Given the description of an element on the screen output the (x, y) to click on. 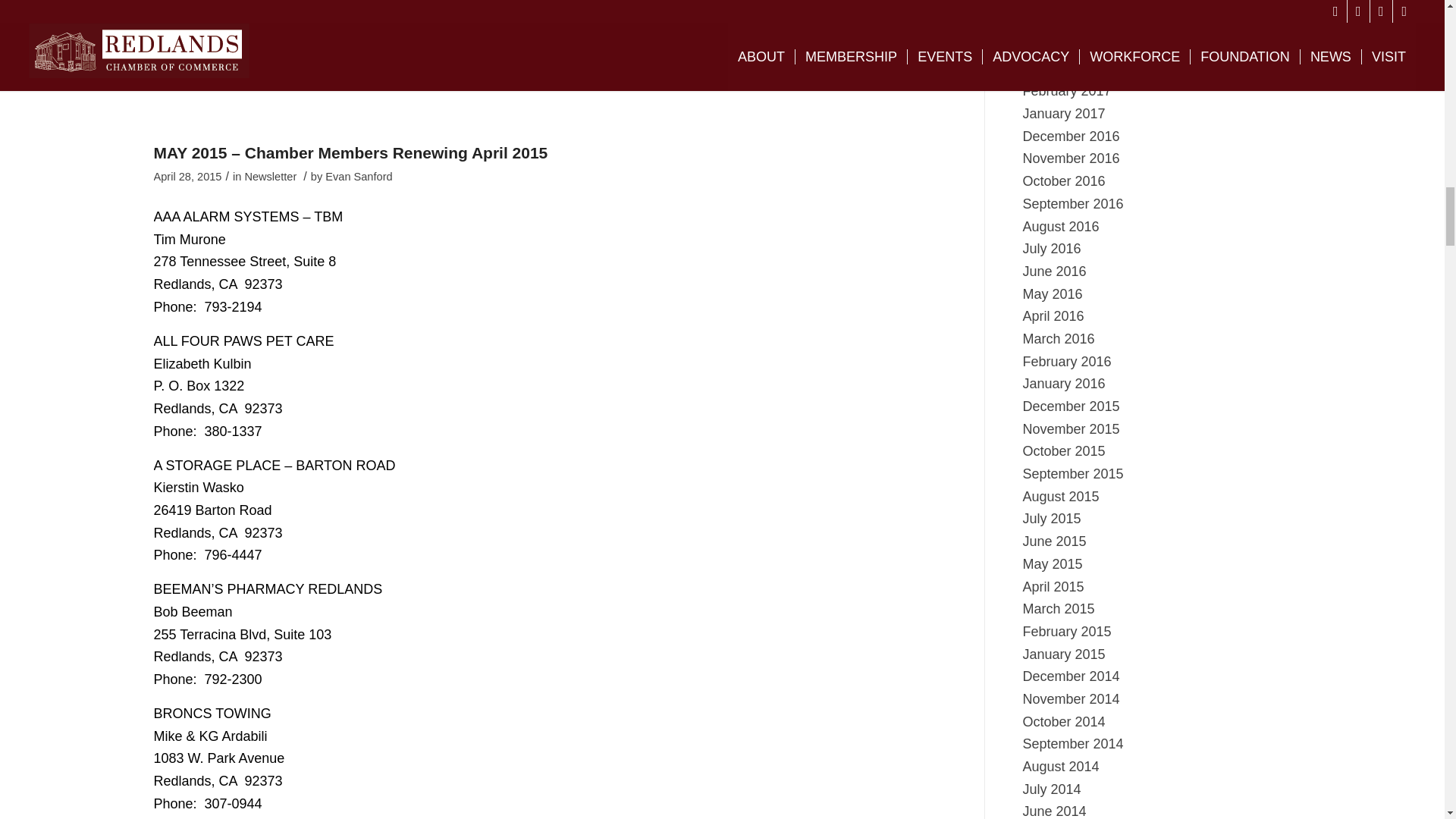
Posts by Evan Sanford (357, 176)
